Given the description of an element on the screen output the (x, y) to click on. 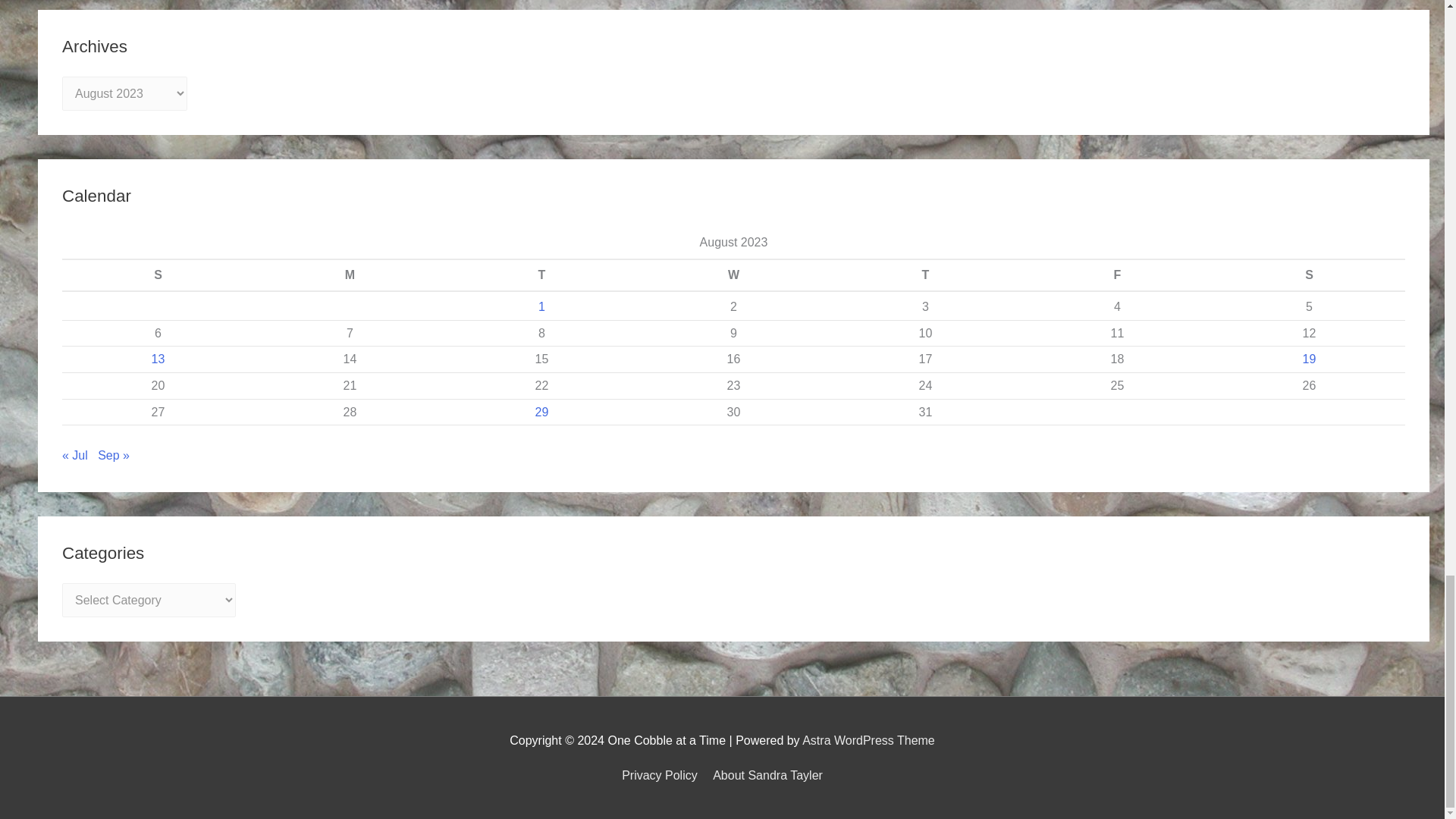
Saturday (1308, 274)
Wednesday (733, 274)
Privacy Policy (662, 775)
Tuesday (541, 274)
Monday (349, 274)
About Sandra Tayler (764, 775)
Sunday (157, 274)
29 (541, 411)
19 (1309, 358)
Friday (1117, 274)
Thursday (925, 274)
13 (158, 358)
Astra WordPress Theme (868, 739)
